Given the description of an element on the screen output the (x, y) to click on. 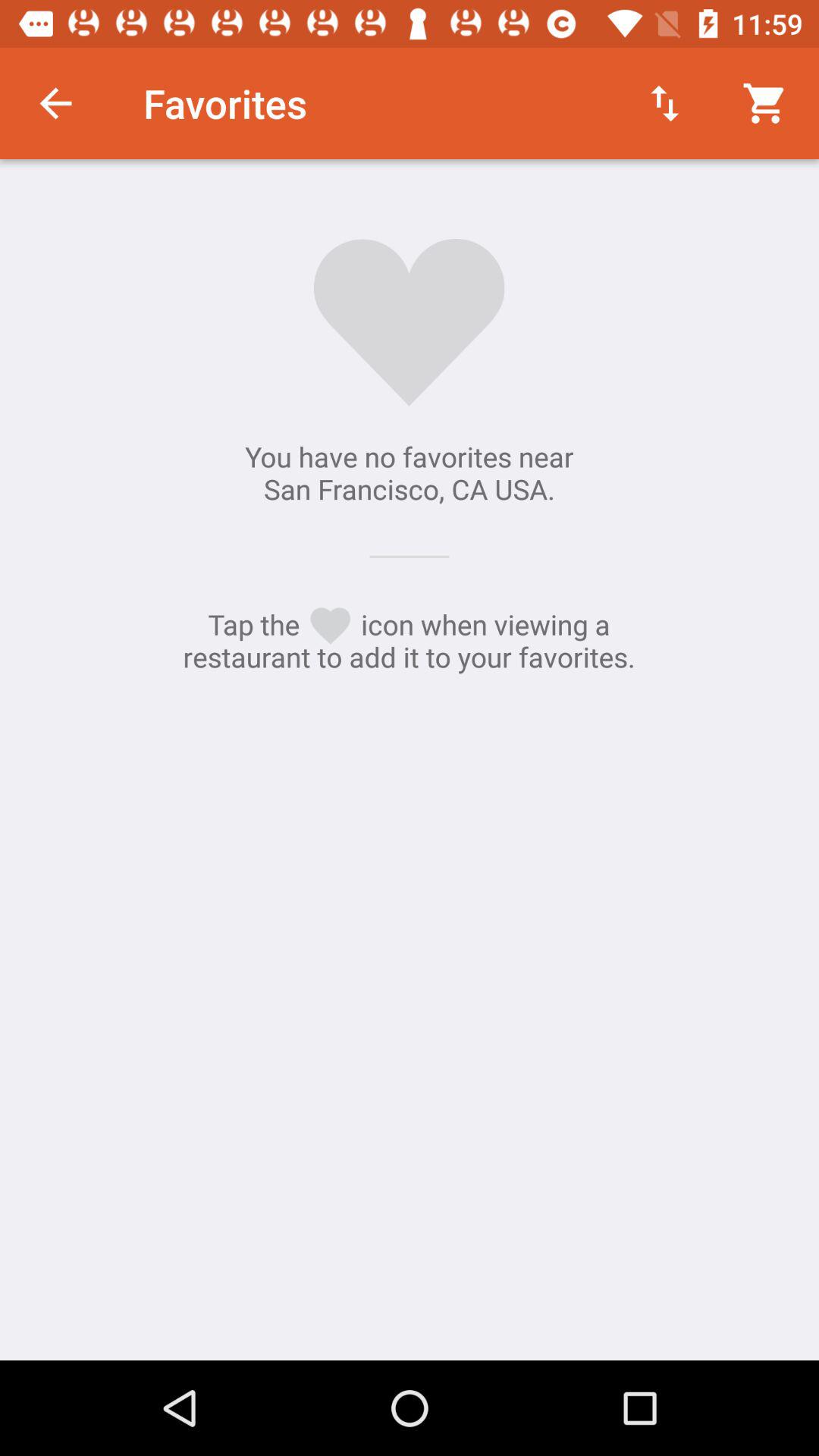
launch item to the left of favorites (55, 103)
